Given the description of an element on the screen output the (x, y) to click on. 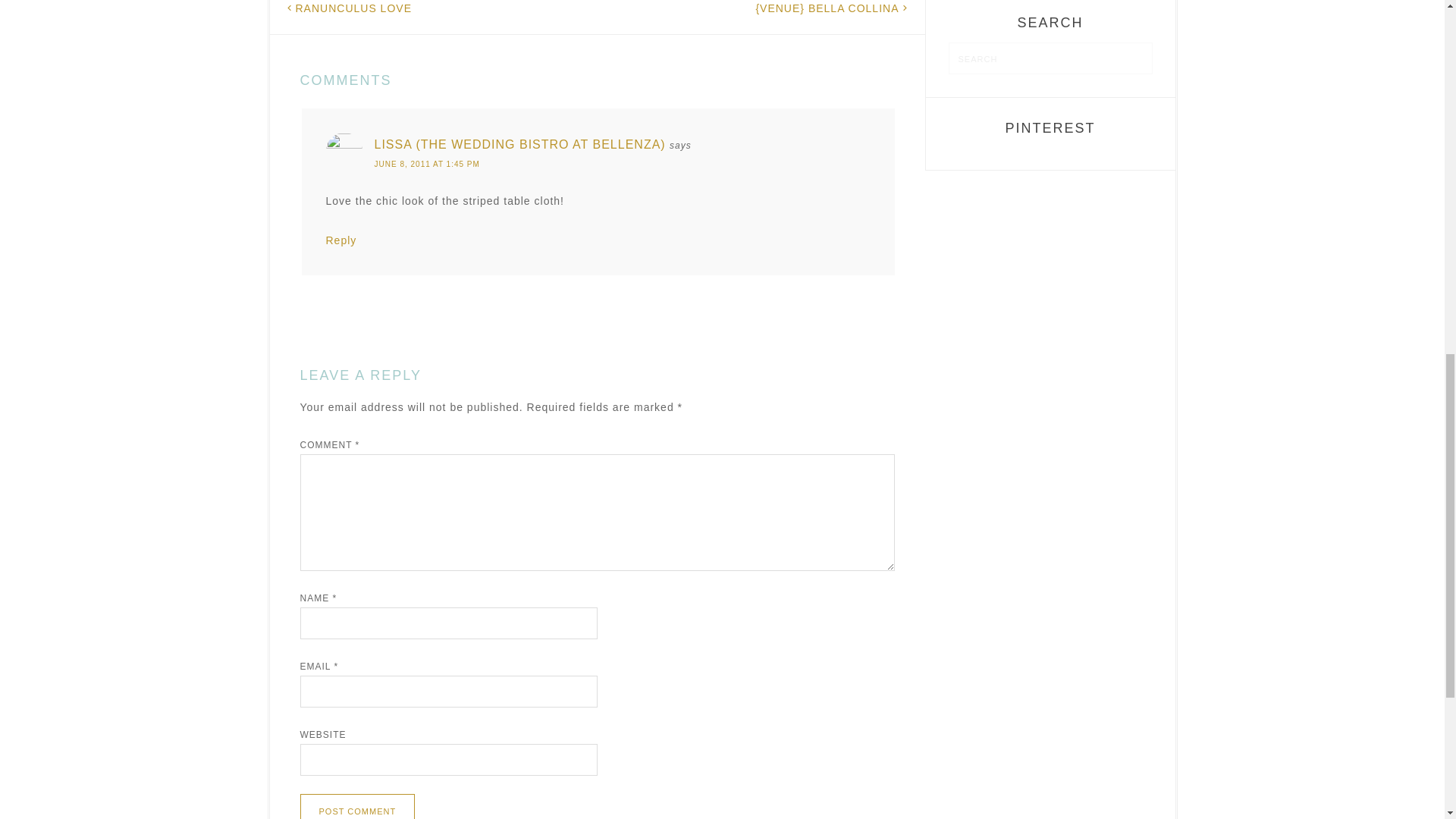
RANUNCULUS LOVE (353, 8)
Reply (341, 240)
Post Comment (356, 806)
JUNE 8, 2011 AT 1:45 PM (593, 164)
